Given the description of an element on the screen output the (x, y) to click on. 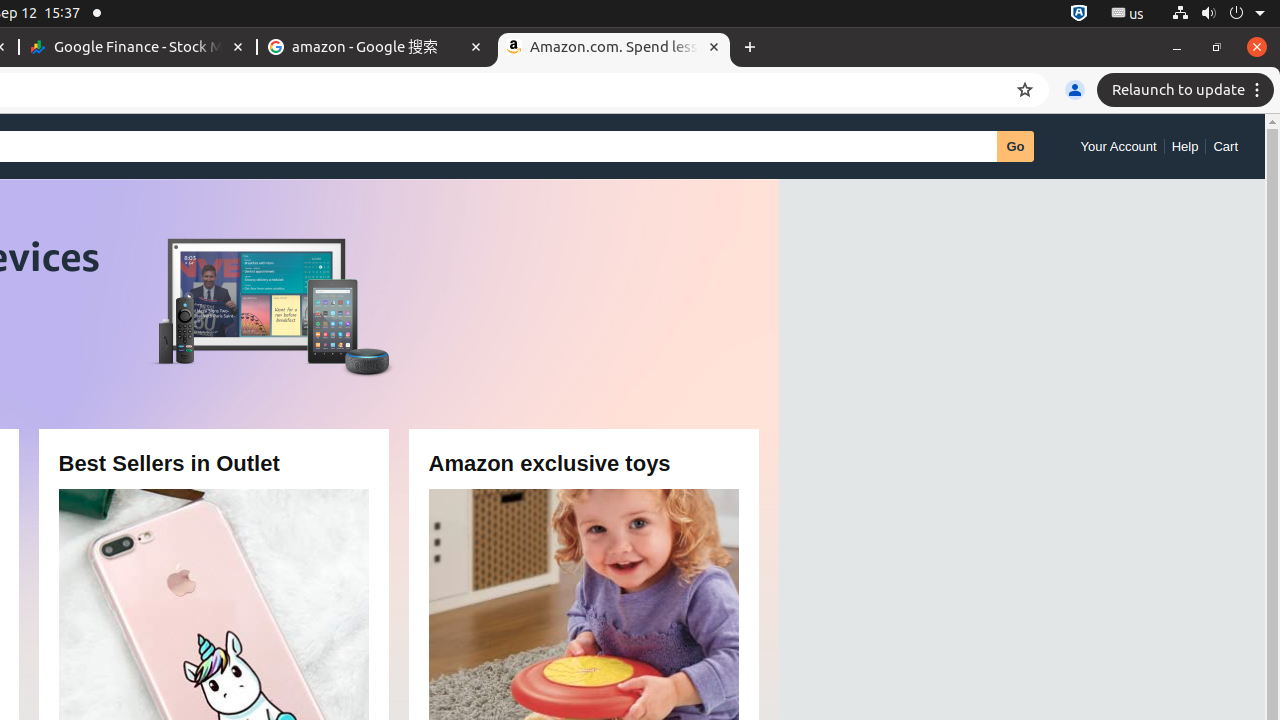
Help Element type: link (1185, 146)
Bookmark this tab Element type: push-button (1025, 90)
:1.72/StatusNotifierItem Element type: menu (1079, 13)
New Tab Element type: push-button (750, 47)
Relaunch to update Element type: push-button (1188, 90)
